Given the description of an element on the screen output the (x, y) to click on. 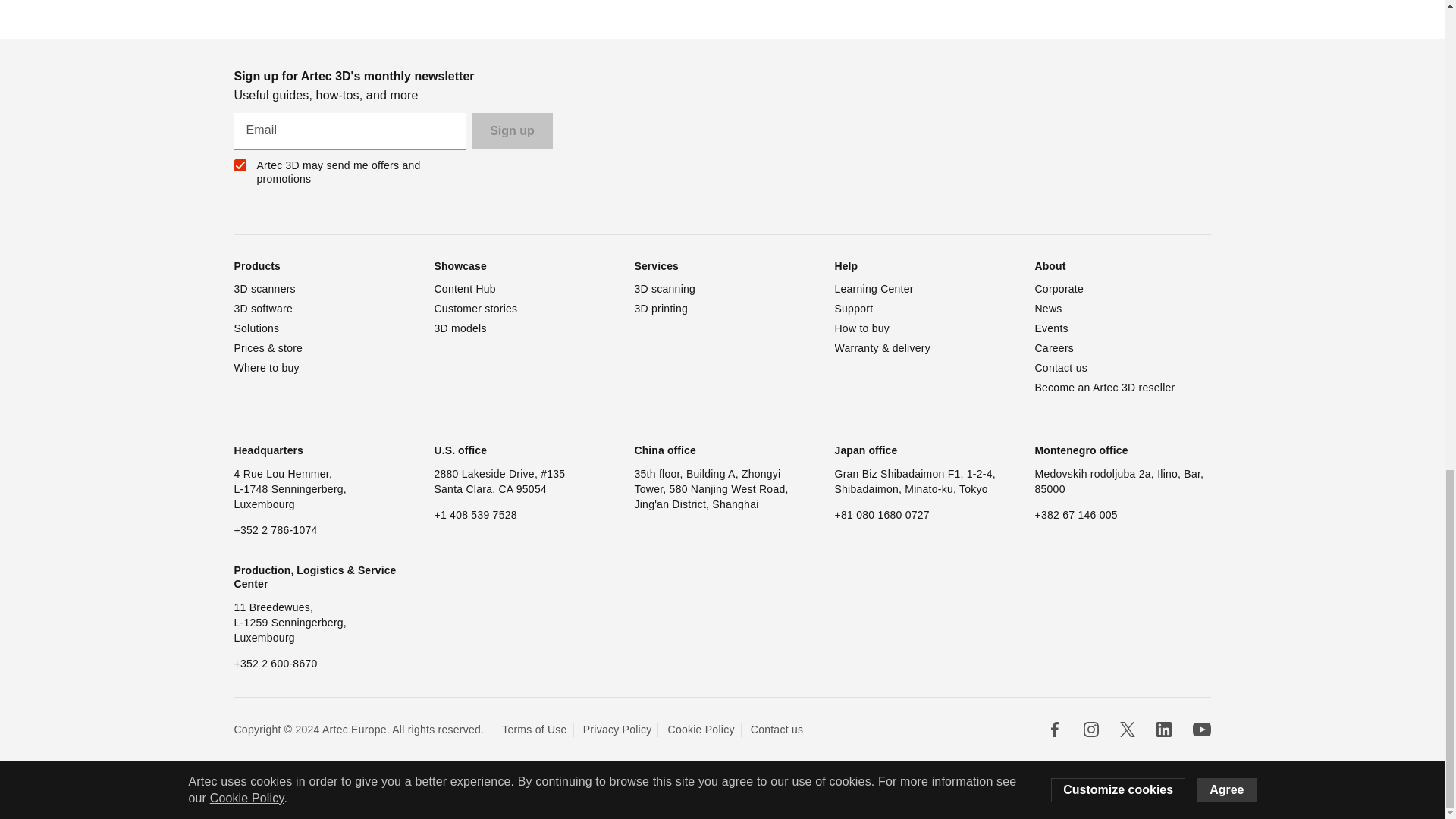
Sign up (511, 131)
